Given the description of an element on the screen output the (x, y) to click on. 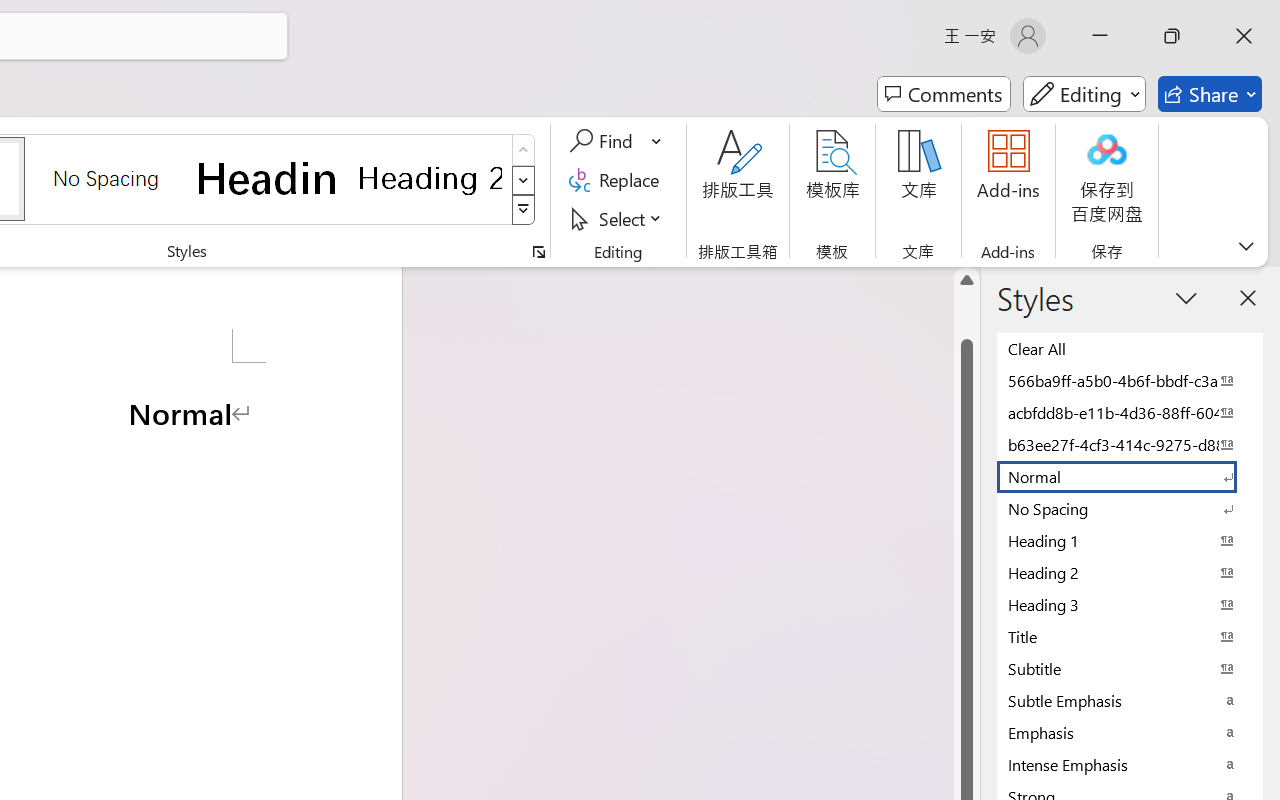
Subtitle (1130, 668)
566ba9ff-a5b0-4b6f-bbdf-c3ab41993fc2 (1130, 380)
b63ee27f-4cf3-414c-9275-d88e3f90795e (1130, 444)
Page up (966, 315)
Row up (523, 150)
Emphasis (1130, 732)
Title (1130, 636)
Heading 3 (1130, 604)
Normal (1130, 476)
Intense Emphasis (1130, 764)
Task Pane Options (1186, 297)
